Given the description of an element on the screen output the (x, y) to click on. 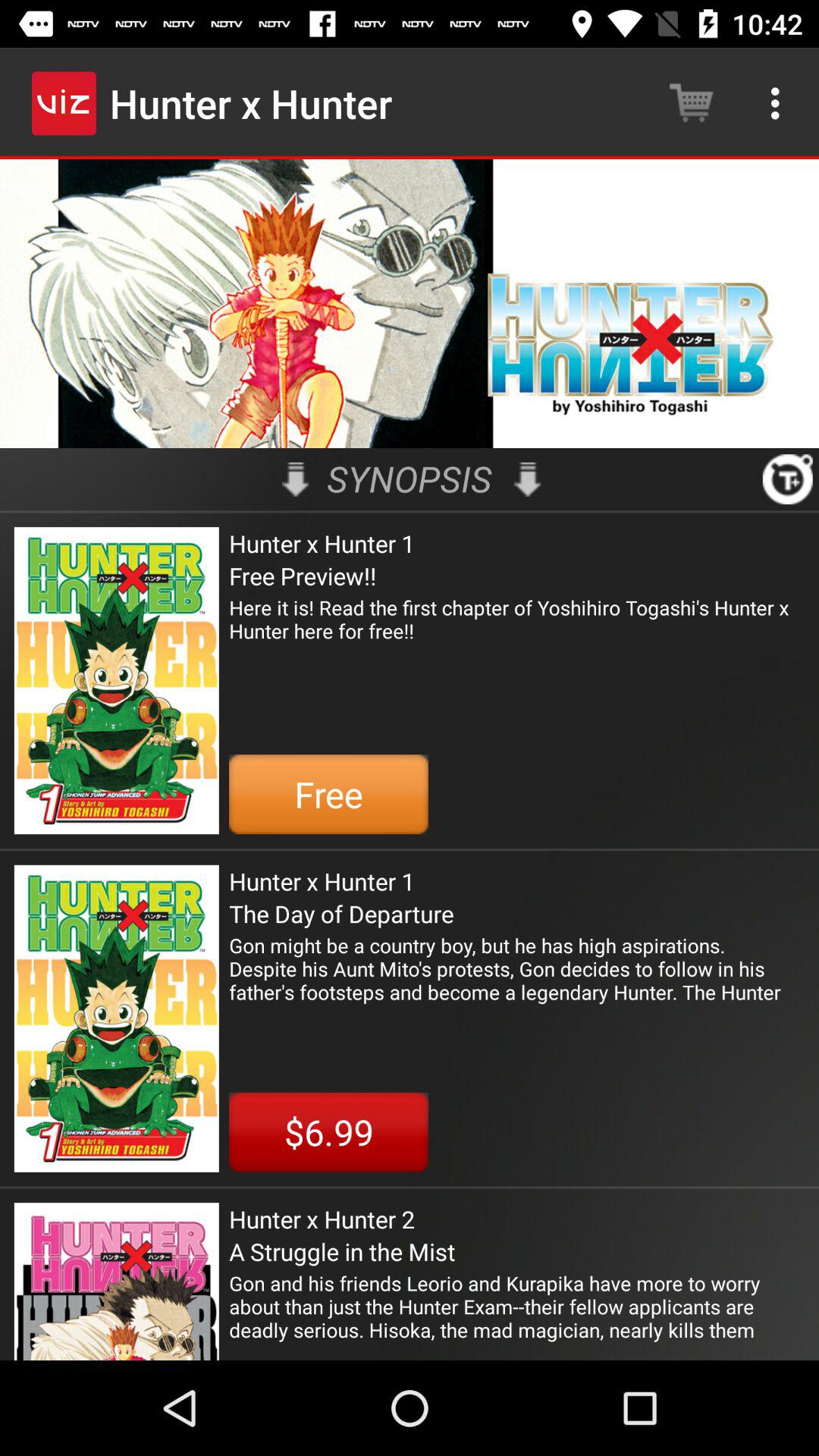
click synopsis (409, 478)
